Given the description of an element on the screen output the (x, y) to click on. 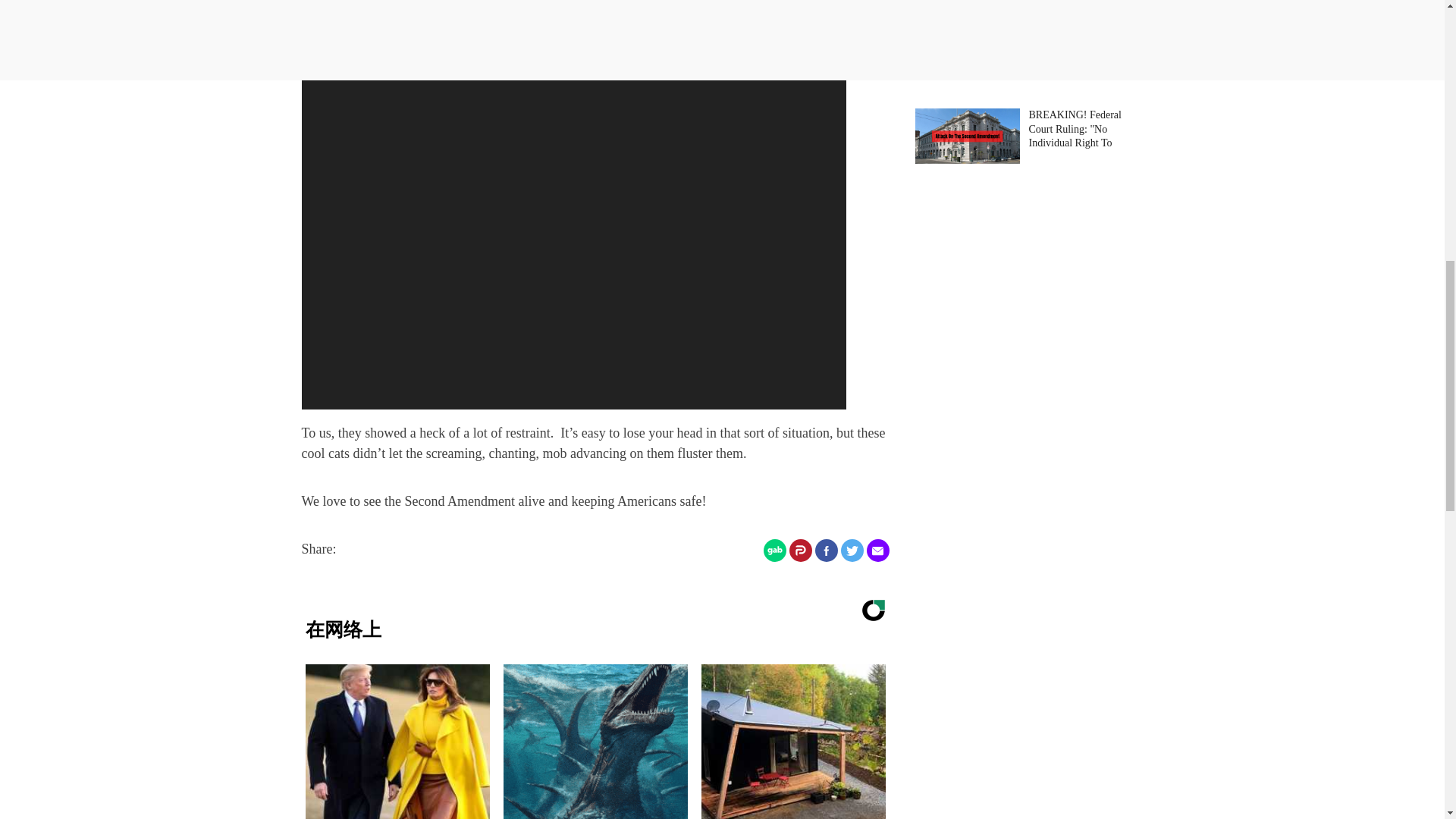
Share on Facebook (825, 549)
Share via Email (877, 549)
Share on Gab (774, 549)
Share on Twitter (851, 549)
Share on Parler (799, 549)
